Given the description of an element on the screen output the (x, y) to click on. 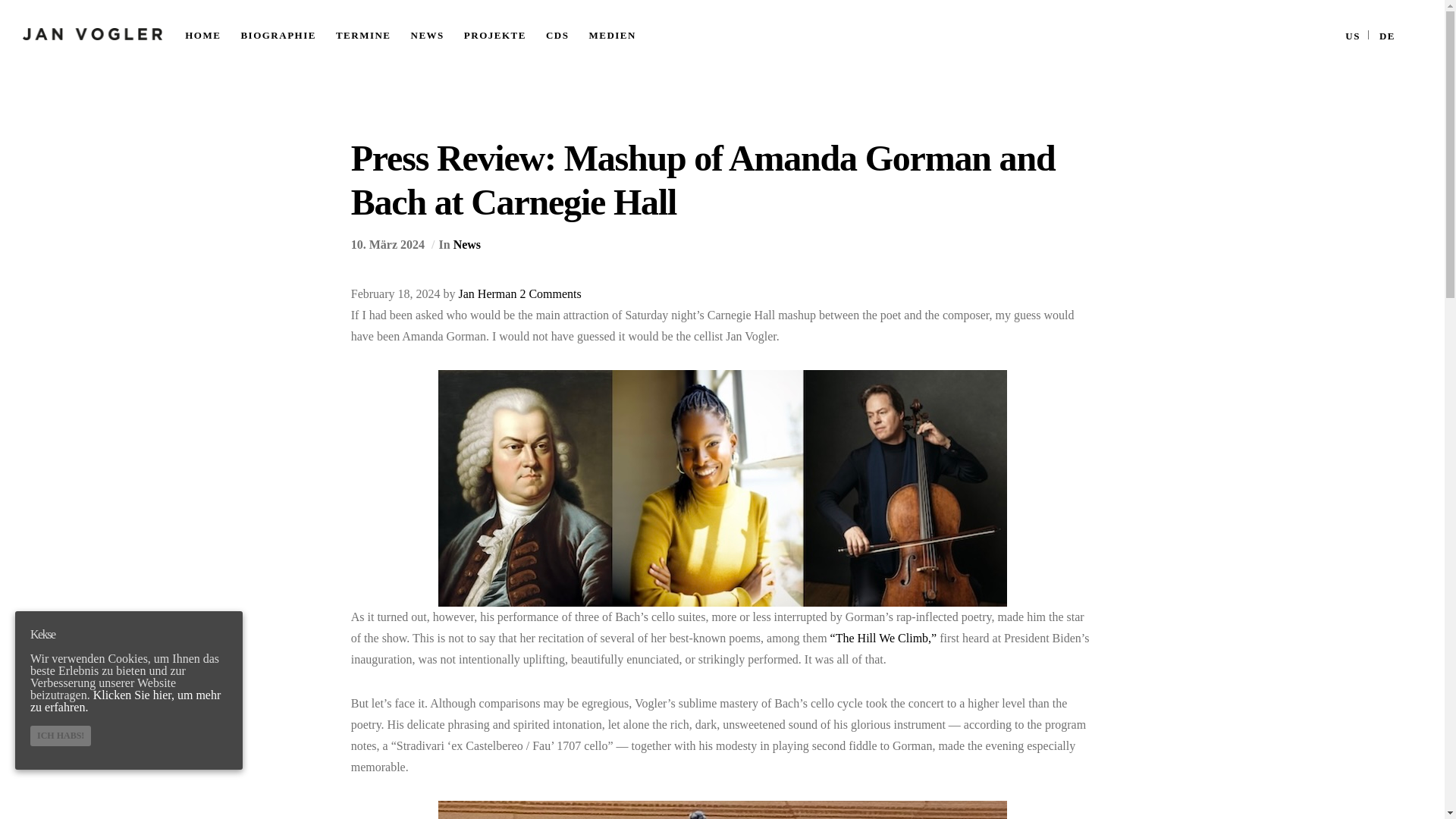
US (1352, 34)
2 Comments (549, 293)
US (1352, 34)
TERMINE (373, 33)
MEDIEN (621, 33)
Jan Herman (487, 293)
PROJEKTE (505, 33)
BIOGRAPHIE (288, 33)
News (466, 244)
DE (1386, 34)
DE (1386, 34)
